Given the description of an element on the screen output the (x, y) to click on. 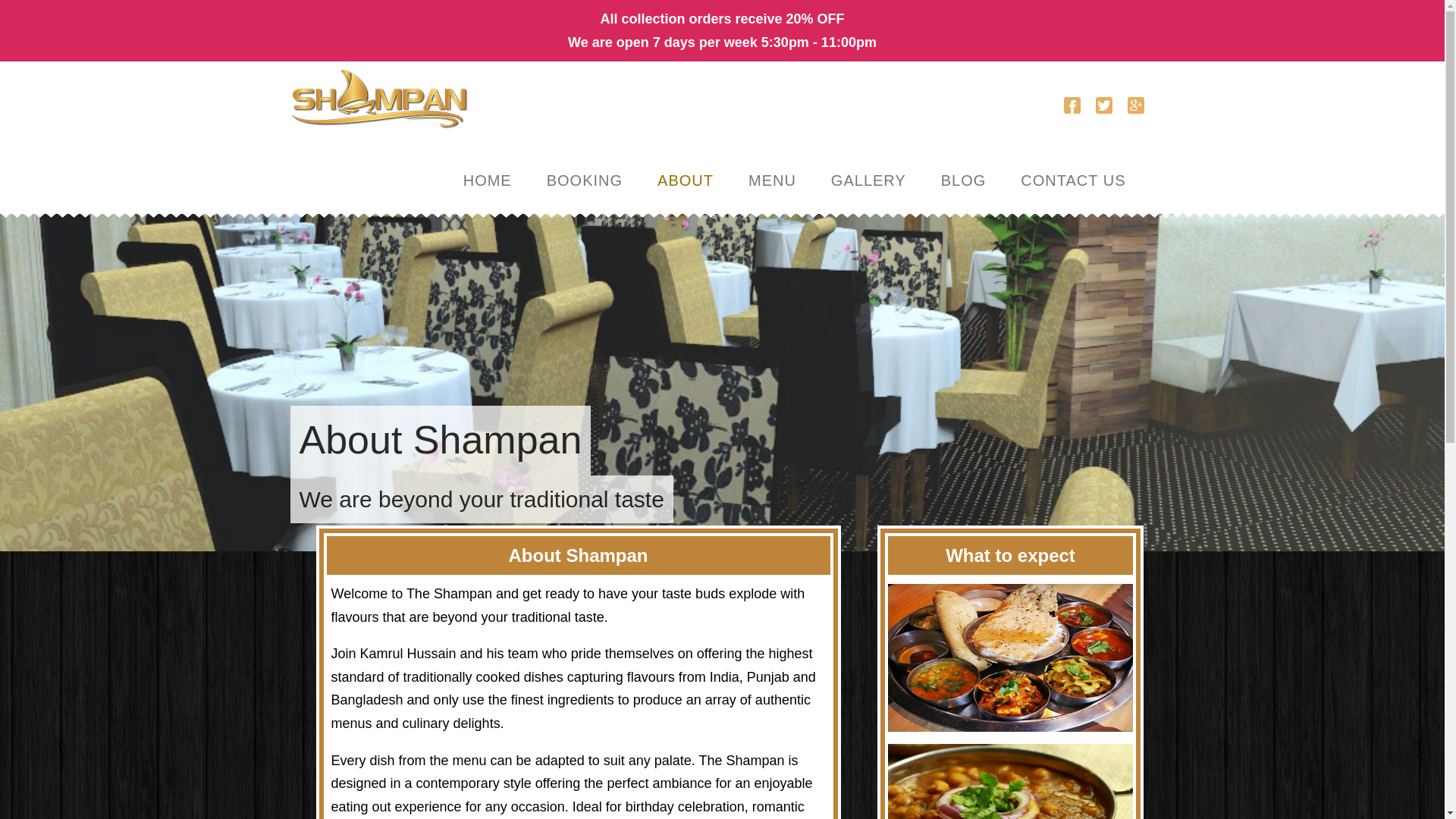
CONTACT US (1073, 169)
Contact Us (1073, 169)
MENU (772, 169)
Booking (584, 169)
BOOKING (584, 169)
About (685, 169)
BLOG (963, 169)
Gallery (868, 169)
Home (486, 169)
GALLERY (868, 169)
